Given the description of an element on the screen output the (x, y) to click on. 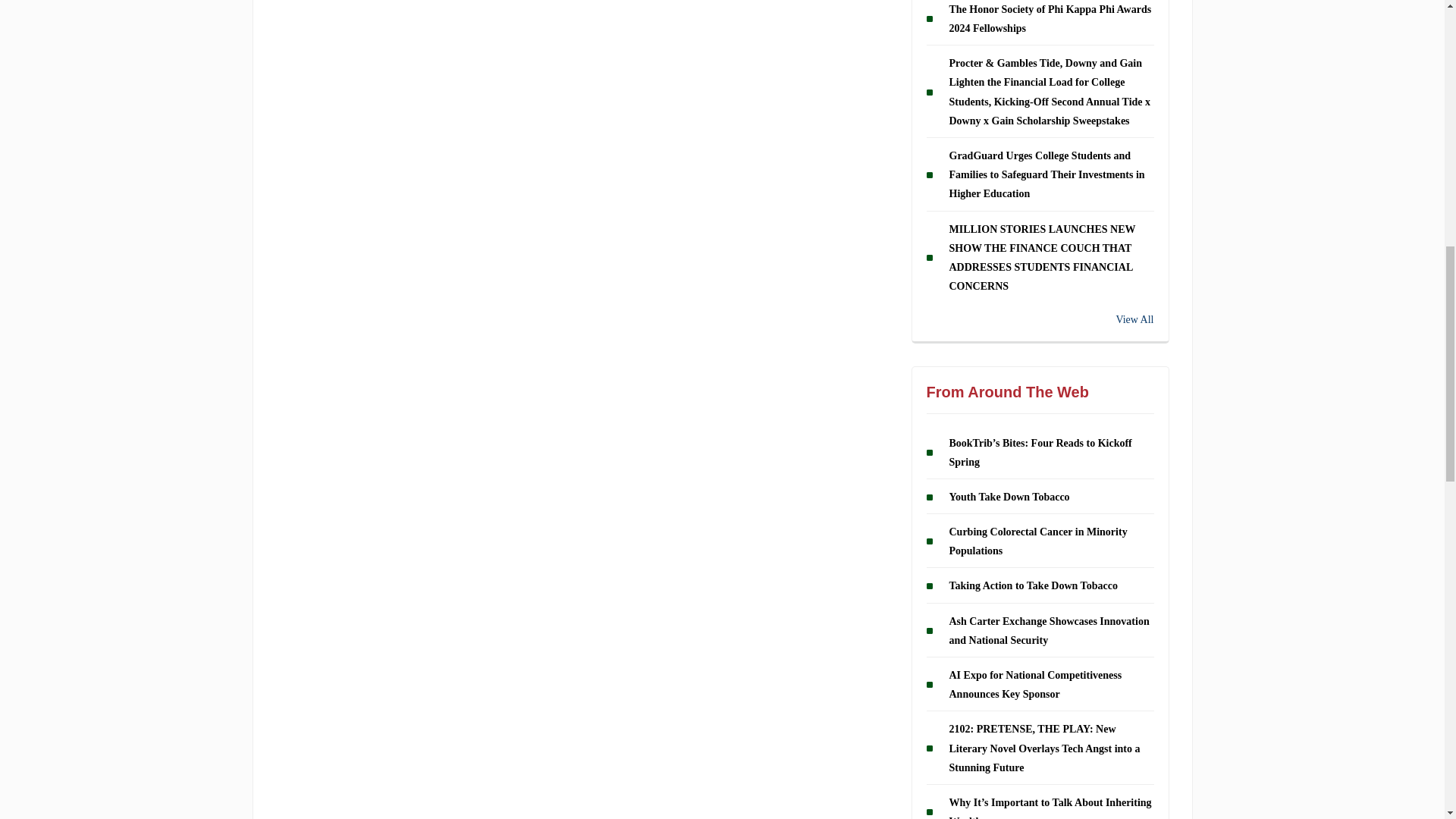
Youth Take Down Tobacco (1009, 496)
Taking Action to Take Down Tobacco (1033, 586)
Youth Take Down Tobacco (1009, 496)
AI Expo for National Competitiveness Announces Key Sponsor (1035, 684)
View All (1040, 319)
AI Expo for National Competitiveness Announces Key Sponsor (1035, 684)
